Given the description of an element on the screen output the (x, y) to click on. 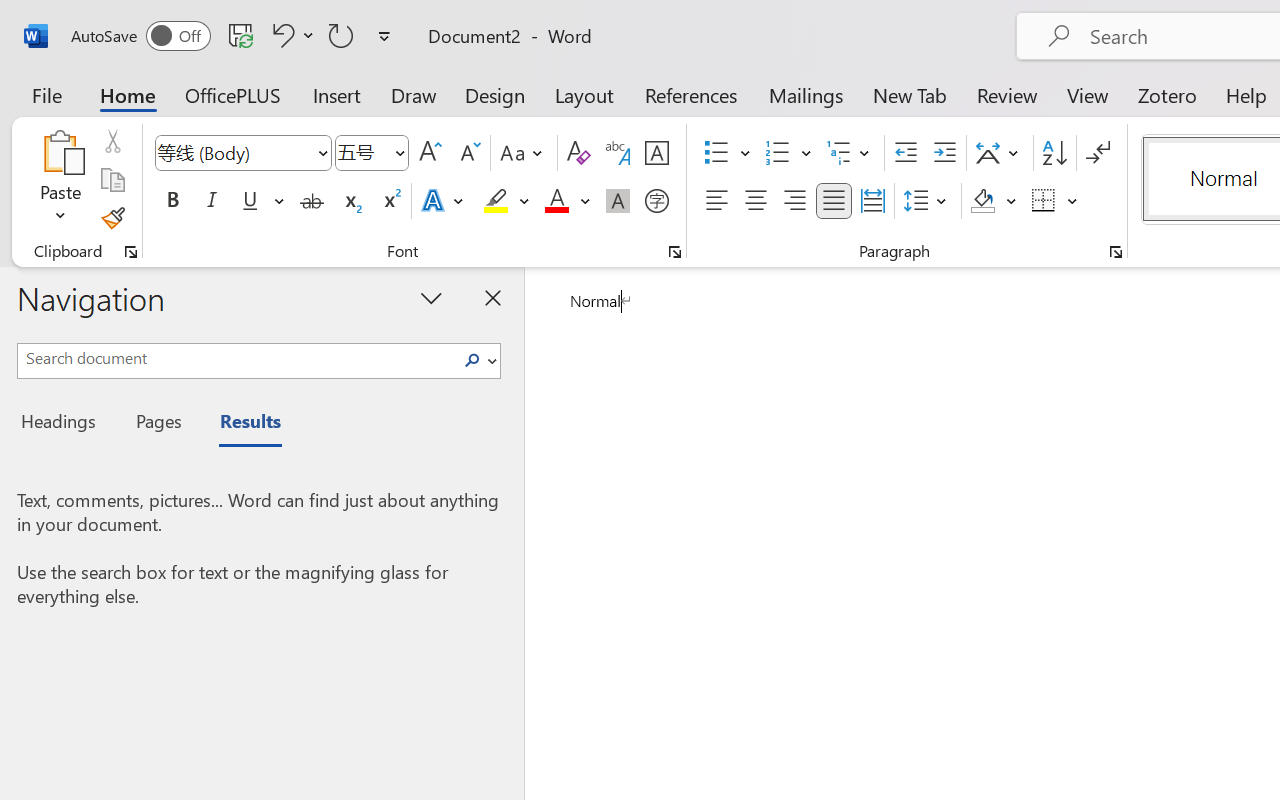
Clear Formatting (578, 153)
Sort... (1054, 153)
Font Color Red (556, 201)
Show/Hide Editing Marks (1098, 153)
Change Case (524, 153)
Copy (112, 179)
Layout (584, 94)
Font... (675, 252)
Cut (112, 141)
Draw (413, 94)
Pages (156, 424)
